Given the description of an element on the screen output the (x, y) to click on. 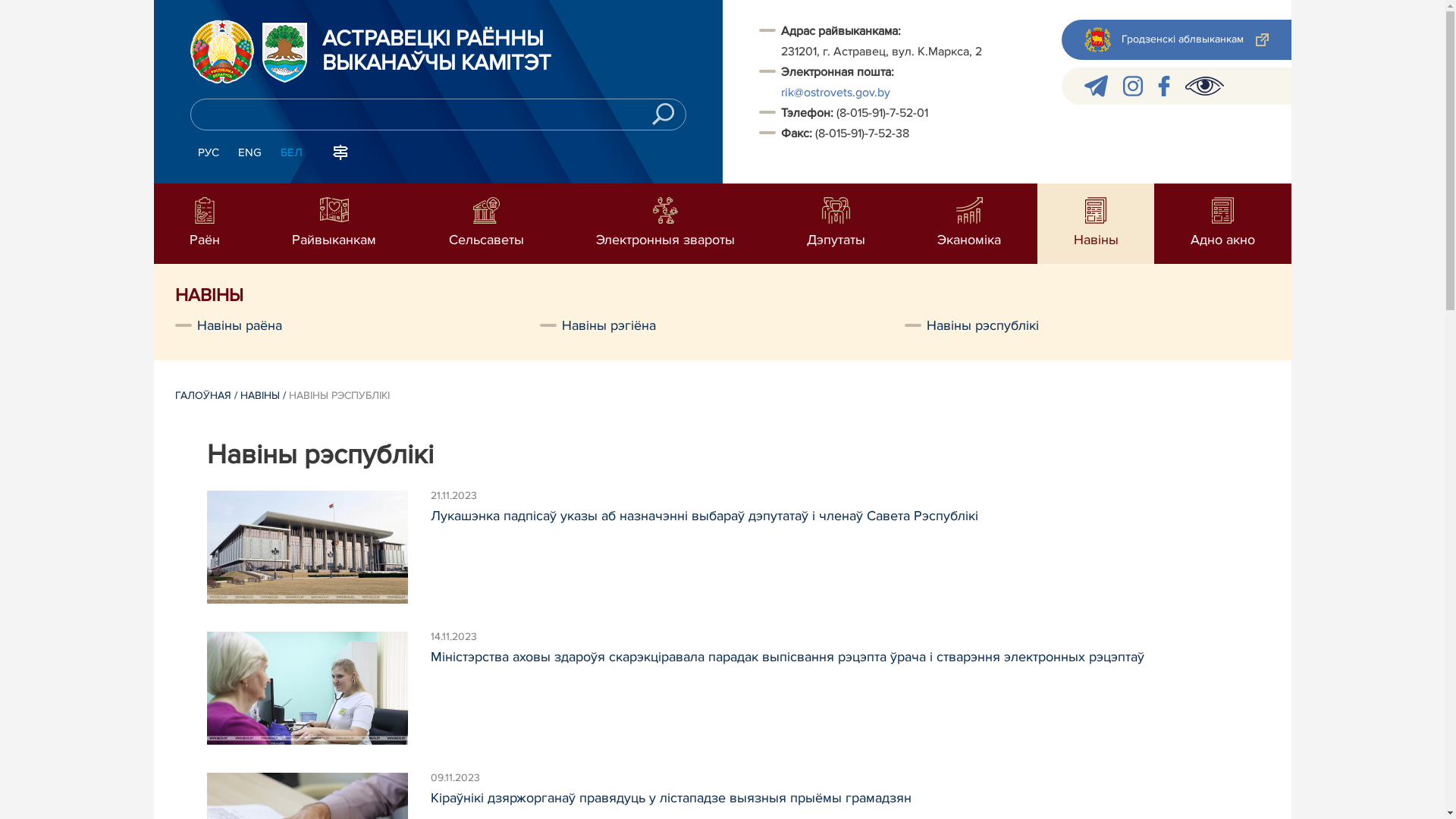
  Element type: text (432, 689)
rik@ostrovets.gov.by Element type: text (835, 92)
  Element type: text (432, 548)
telegram Element type: hover (1095, 86)
ENG Element type: text (249, 152)
instagram Element type: hover (1132, 86)
facebook Element type: hover (1163, 85)
